Given the description of an element on the screen output the (x, y) to click on. 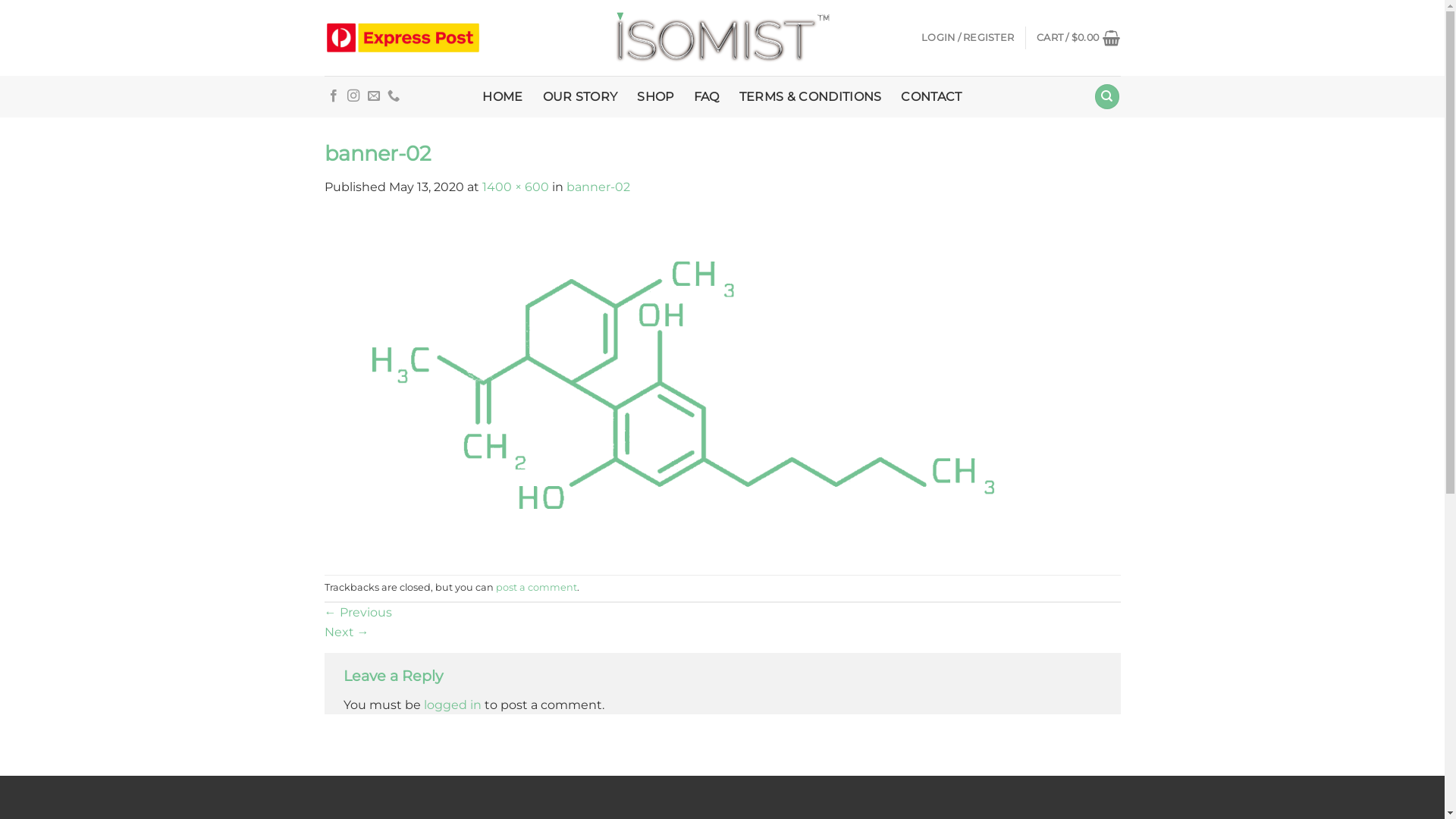
TERMS & CONDITIONS Element type: text (810, 96)
logged in Element type: text (451, 704)
banner-02 Element type: text (597, 186)
SHOP Element type: text (655, 96)
CART / $0.00 Element type: text (1078, 37)
Isomist - Legalised Medicinal Cannabis Sprays & Oils Element type: hover (722, 37)
banner-02 Element type: hover (722, 384)
HOME Element type: text (502, 96)
LOGIN / REGISTER Element type: text (967, 37)
OUR STORY Element type: text (580, 96)
CONTACT Element type: text (930, 96)
post a comment Element type: text (536, 587)
FAQ Element type: text (706, 96)
